Given the description of an element on the screen output the (x, y) to click on. 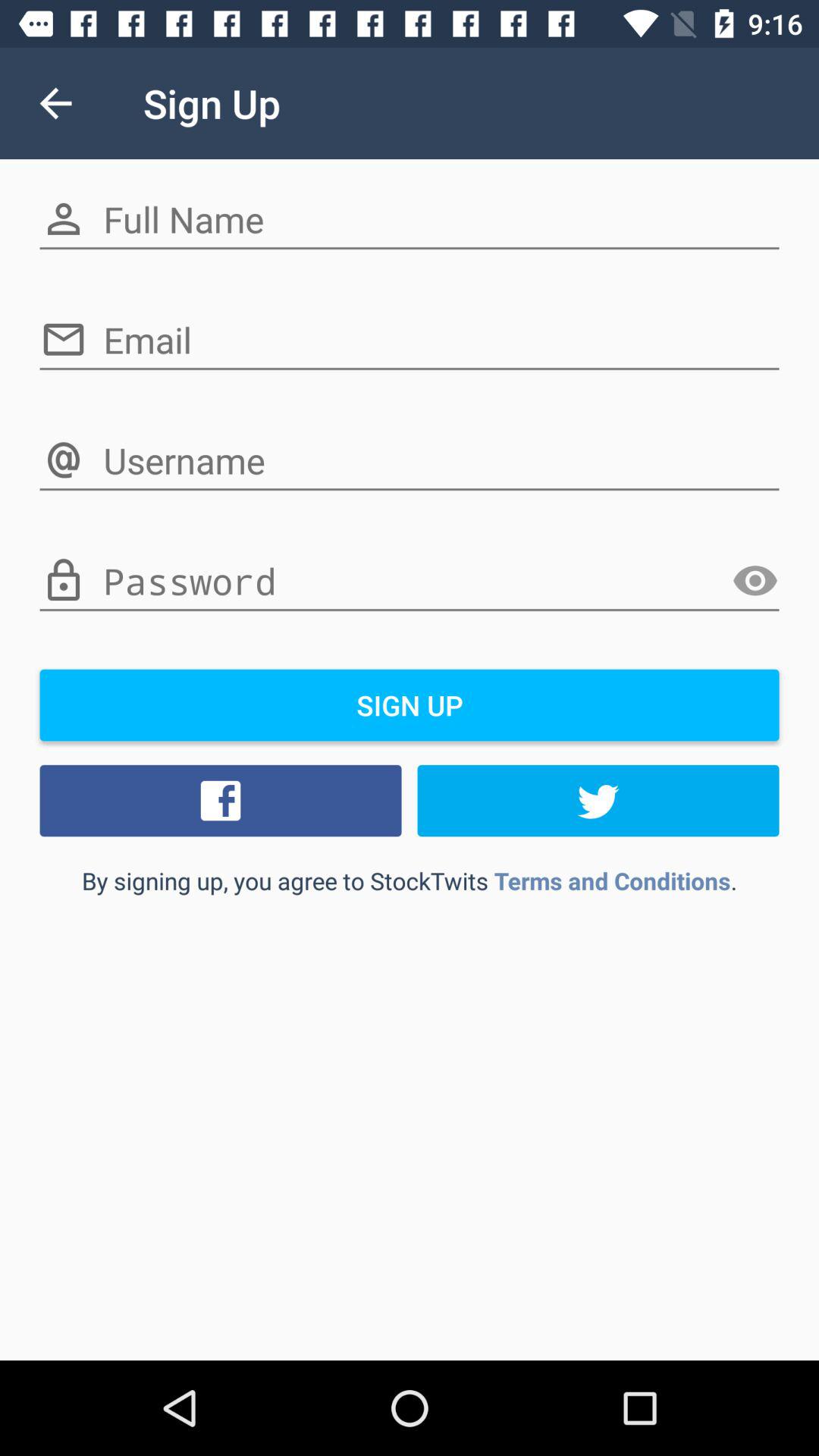
turn on the icon below the sign up item (220, 800)
